Given the description of an element on the screen output the (x, y) to click on. 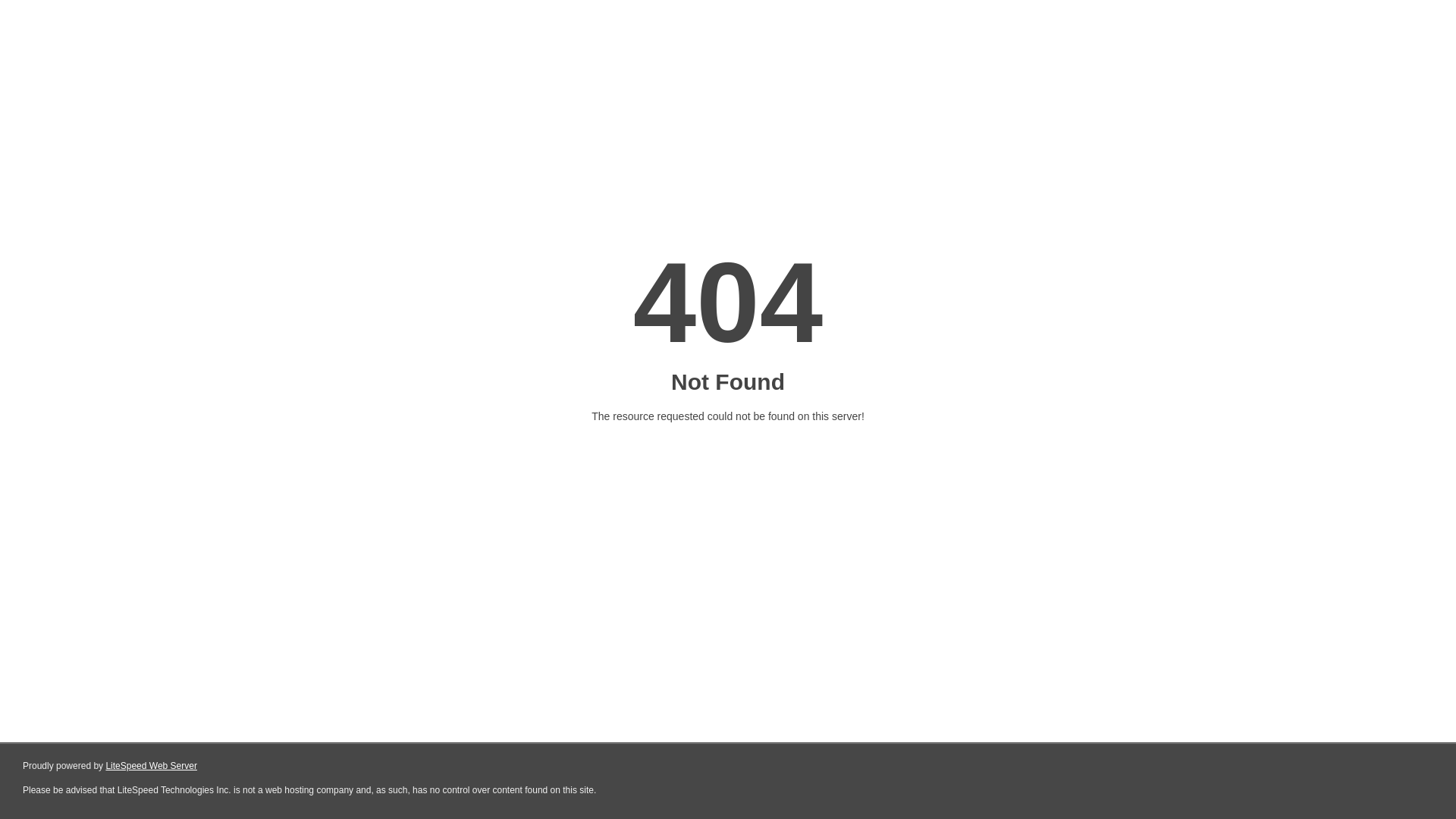
LiteSpeed Web Server Element type: text (151, 765)
